Given the description of an element on the screen output the (x, y) to click on. 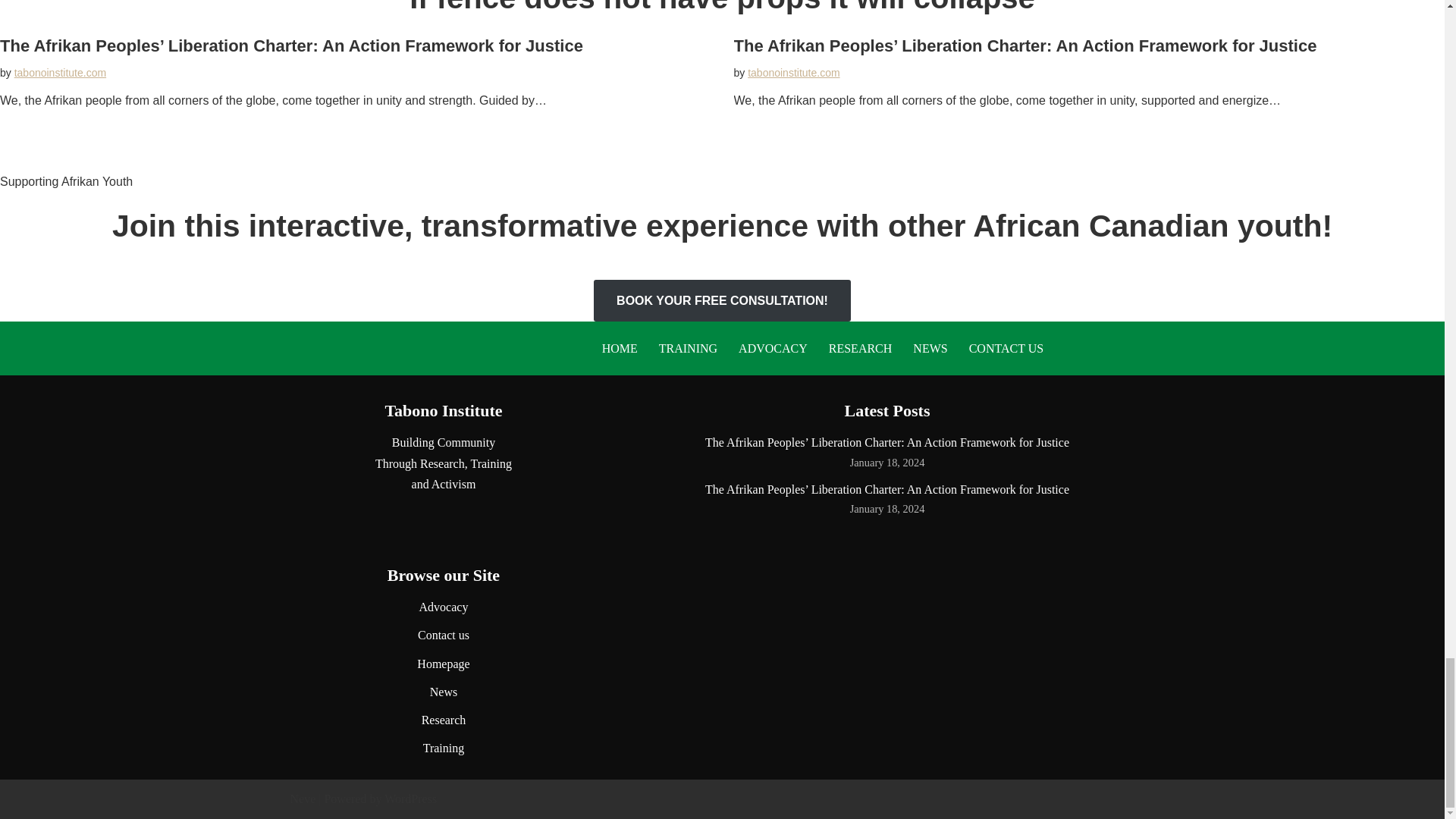
CONTACT US (1006, 348)
Training (443, 748)
NEWS (929, 348)
Research (443, 719)
BOOK YOUR FREE CONSULTATION! (722, 301)
Advocacy (443, 606)
HOME (619, 348)
WordPress (410, 798)
tabonoinstitute.com (794, 72)
ADVOCACY (773, 348)
